Given the description of an element on the screen output the (x, y) to click on. 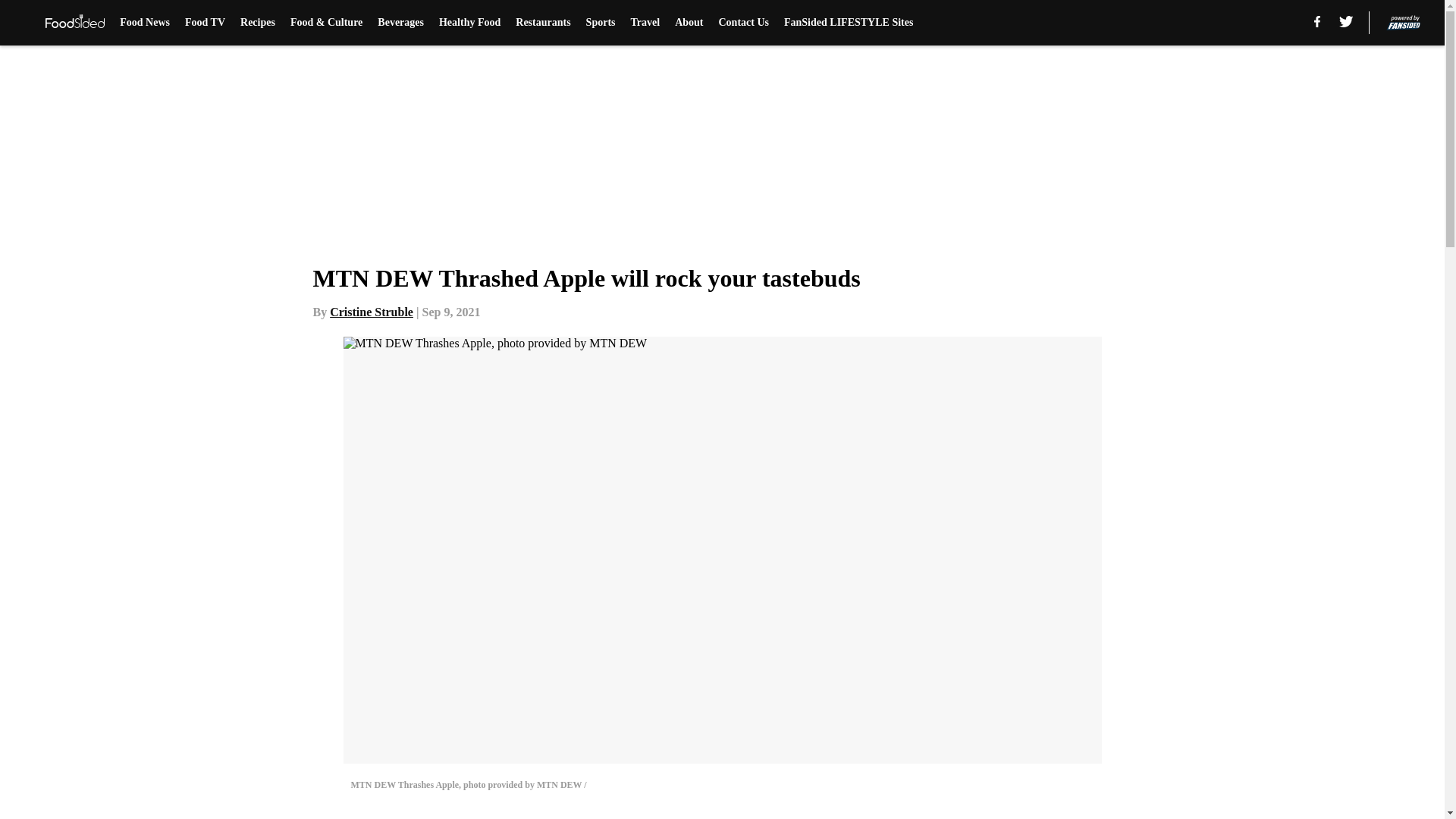
FanSided LIFESTYLE Sites (848, 22)
Sports (600, 22)
Restaurants (542, 22)
Contact Us (744, 22)
Recipes (257, 22)
Food TV (204, 22)
Travel (645, 22)
Cristine Struble (371, 311)
Food News (144, 22)
Healthy Food (469, 22)
Beverages (400, 22)
About (689, 22)
